Given the description of an element on the screen output the (x, y) to click on. 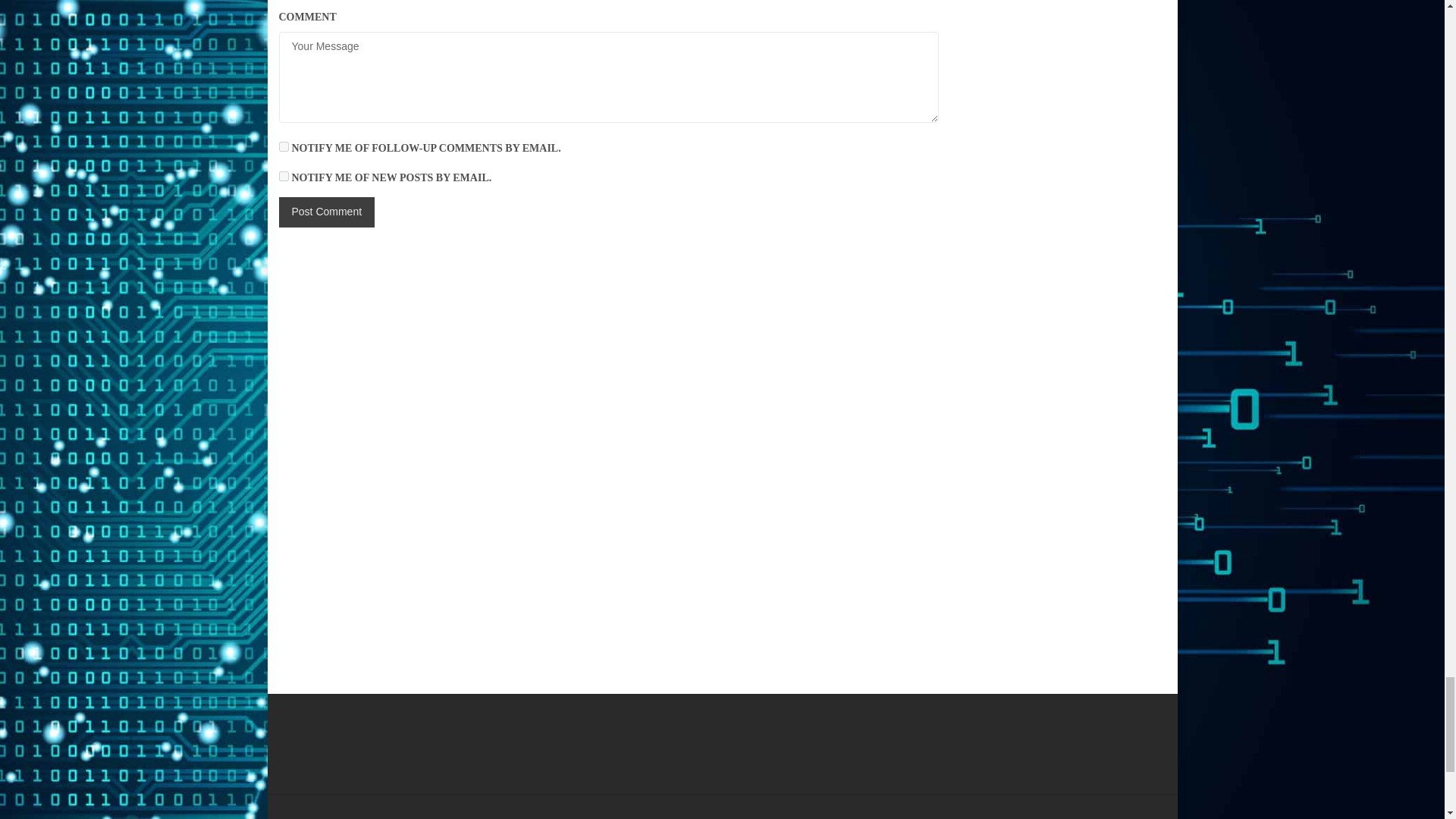
subscribe (283, 175)
subscribe (283, 146)
Post Comment (327, 212)
